Given the description of an element on the screen output the (x, y) to click on. 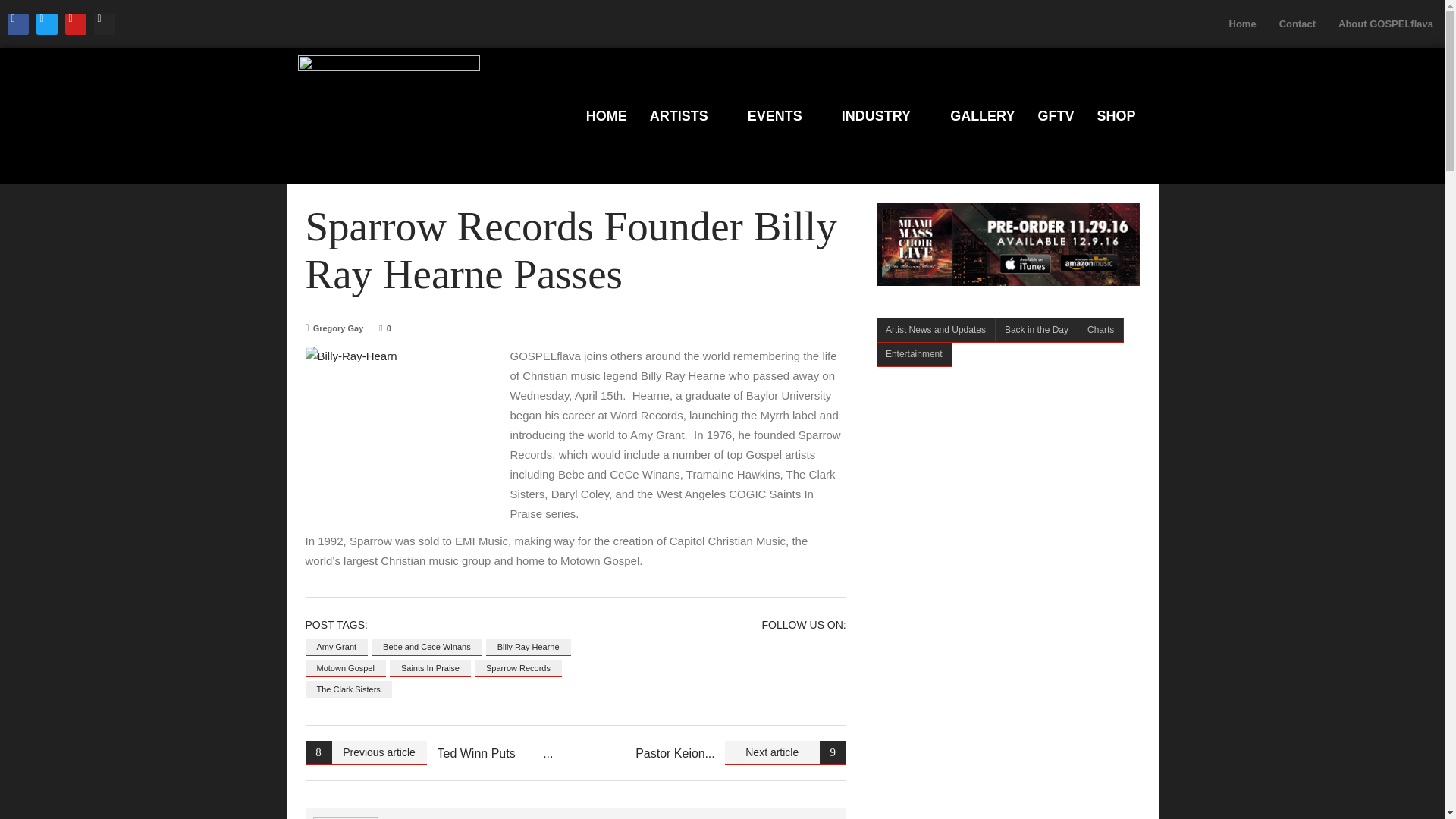
0 (384, 327)
SHOP (1115, 116)
GFTV (1055, 116)
Bebe and Cece Winans (426, 647)
EVENTS (782, 116)
Motown Gospel (344, 668)
Billy Ray Hearne (528, 647)
HOME (607, 116)
INDUSTRY (884, 116)
GALLERY (982, 116)
